Given the description of an element on the screen output the (x, y) to click on. 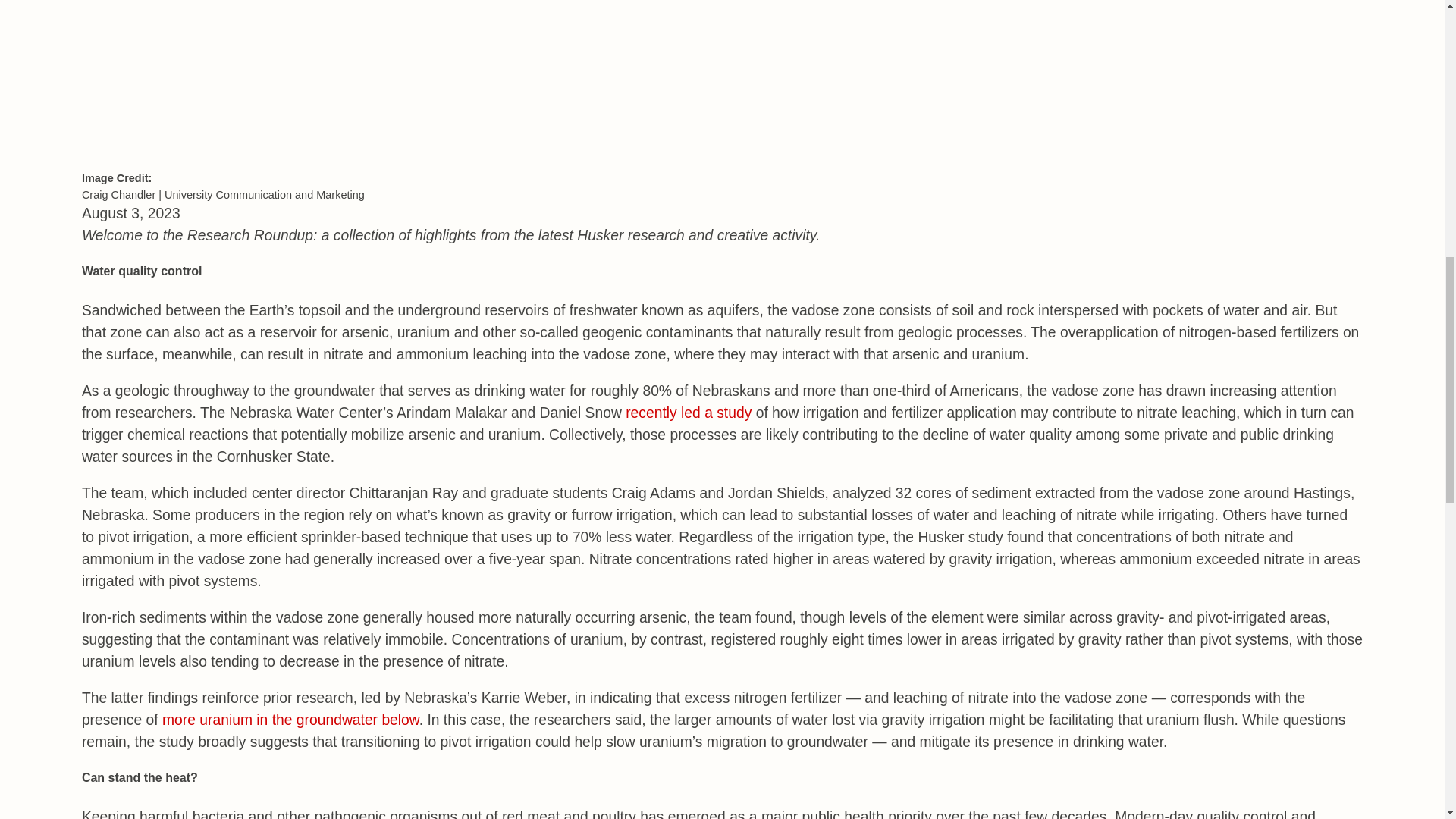
recently led a study (688, 412)
more uranium in the groundwater below (290, 719)
